Given the description of an element on the screen output the (x, y) to click on. 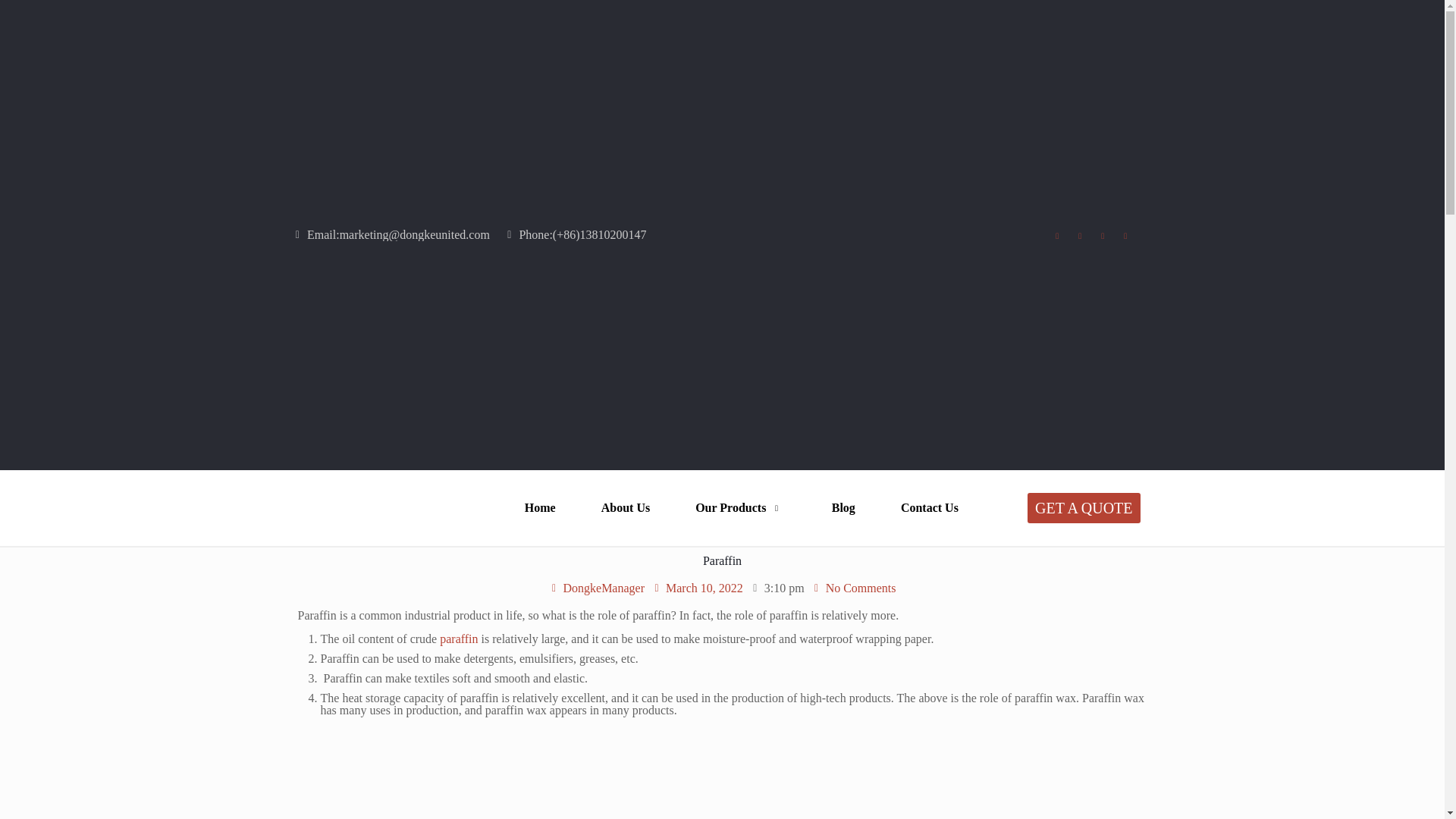
English (908, 291)
About Us (625, 507)
Home (540, 507)
Our Products (740, 507)
